Given the description of an element on the screen output the (x, y) to click on. 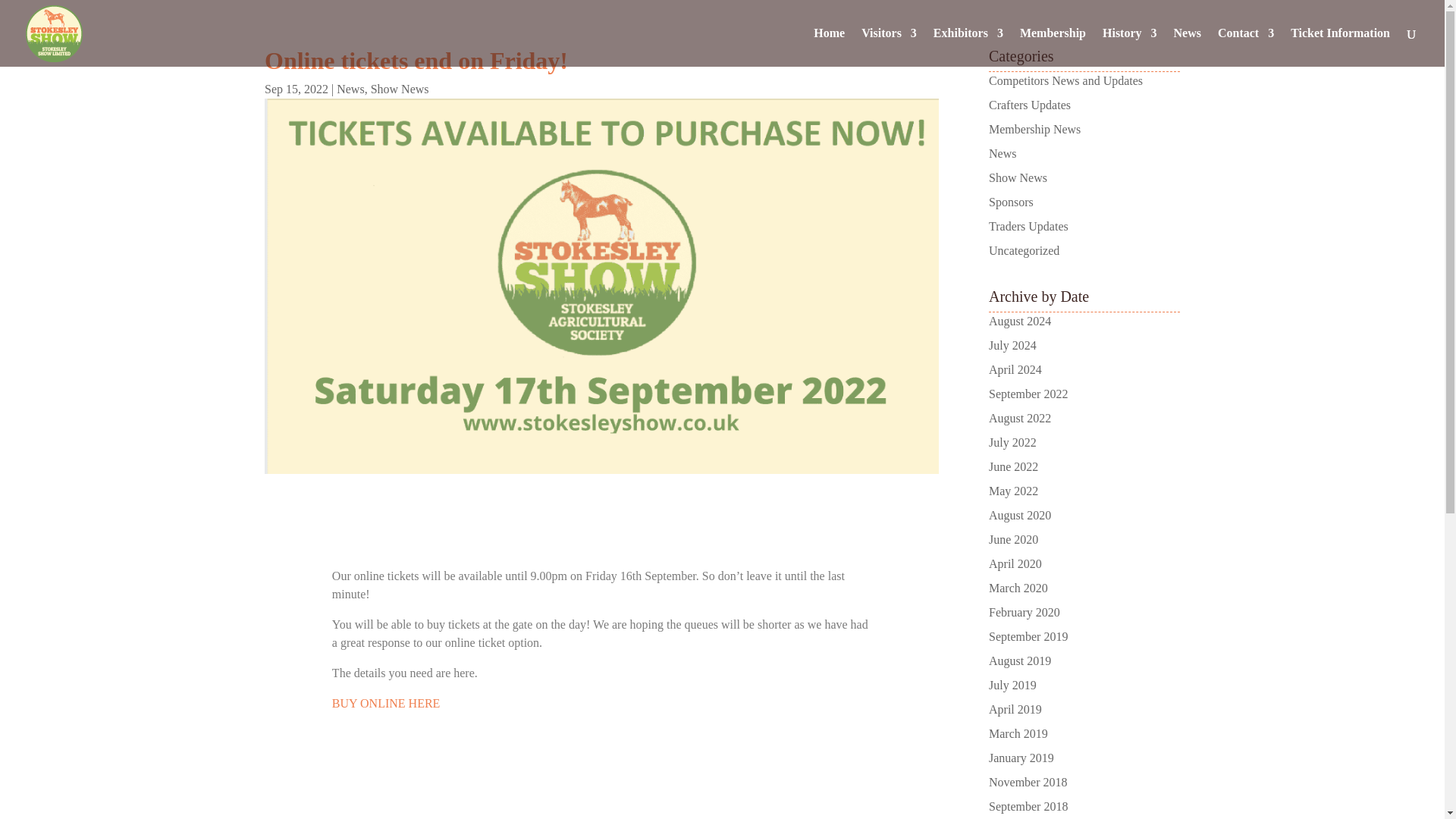
Membership (1053, 46)
News (350, 88)
July 2024 (1012, 345)
Crafters Updates (1029, 104)
BUY ONLINE HERE (386, 703)
August 2022 (1019, 418)
Competitors News and Updates (1065, 80)
Visitors (889, 46)
Show News (1017, 177)
